Given the description of an element on the screen output the (x, y) to click on. 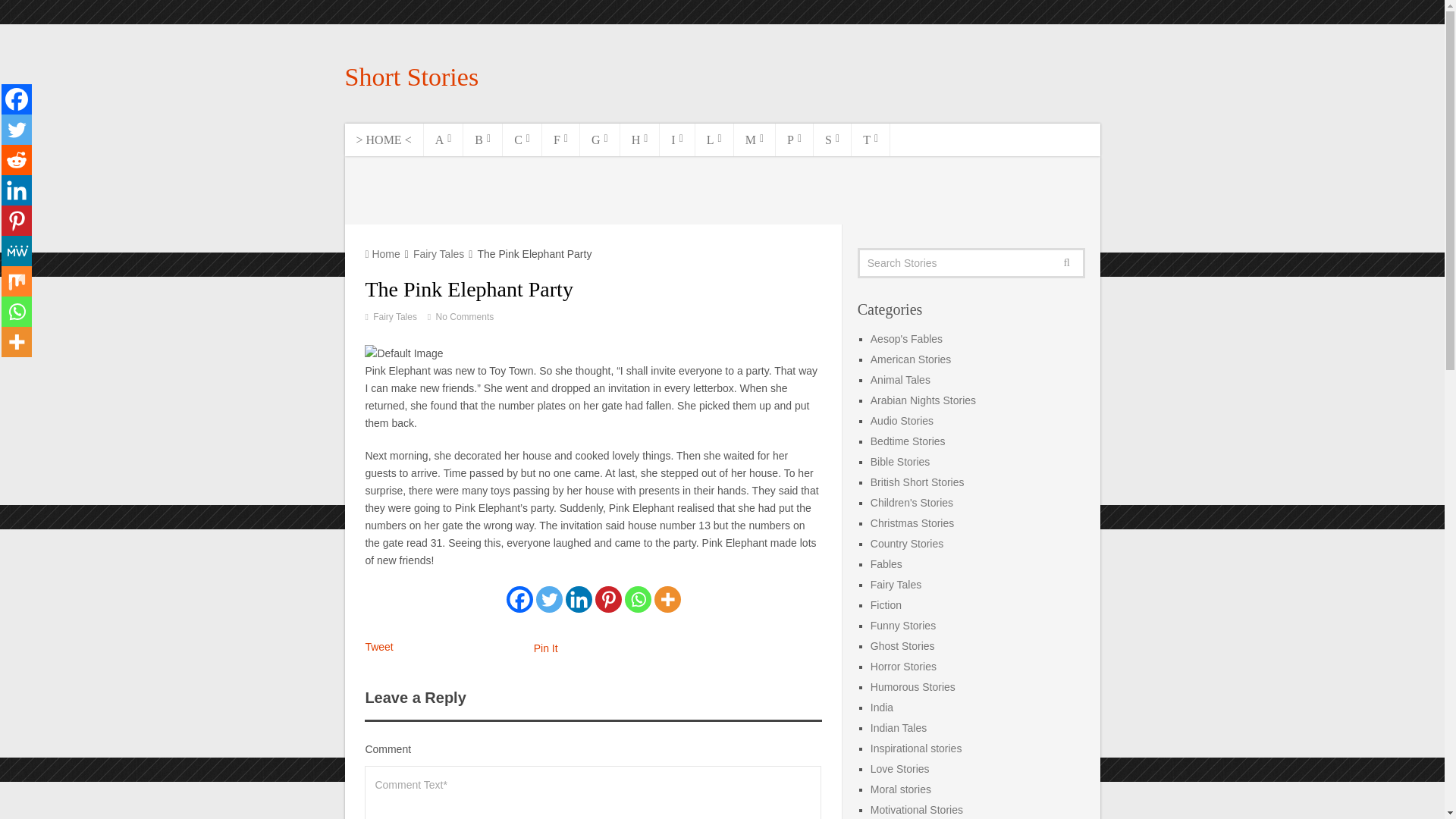
Whatsapp (637, 599)
Whatsapp (16, 311)
Linkedin (579, 599)
B (482, 139)
F (560, 139)
Short Stories (411, 76)
MeWe (16, 250)
S (832, 139)
P (794, 139)
Linkedin (16, 190)
